Given the description of an element on the screen output the (x, y) to click on. 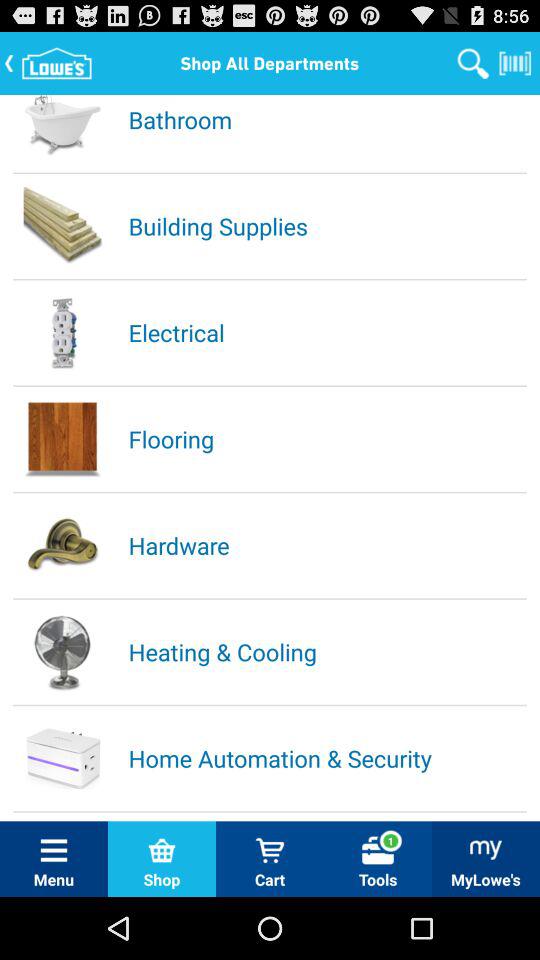
click the item above the bathroom app (473, 62)
